Given the description of an element on the screen output the (x, y) to click on. 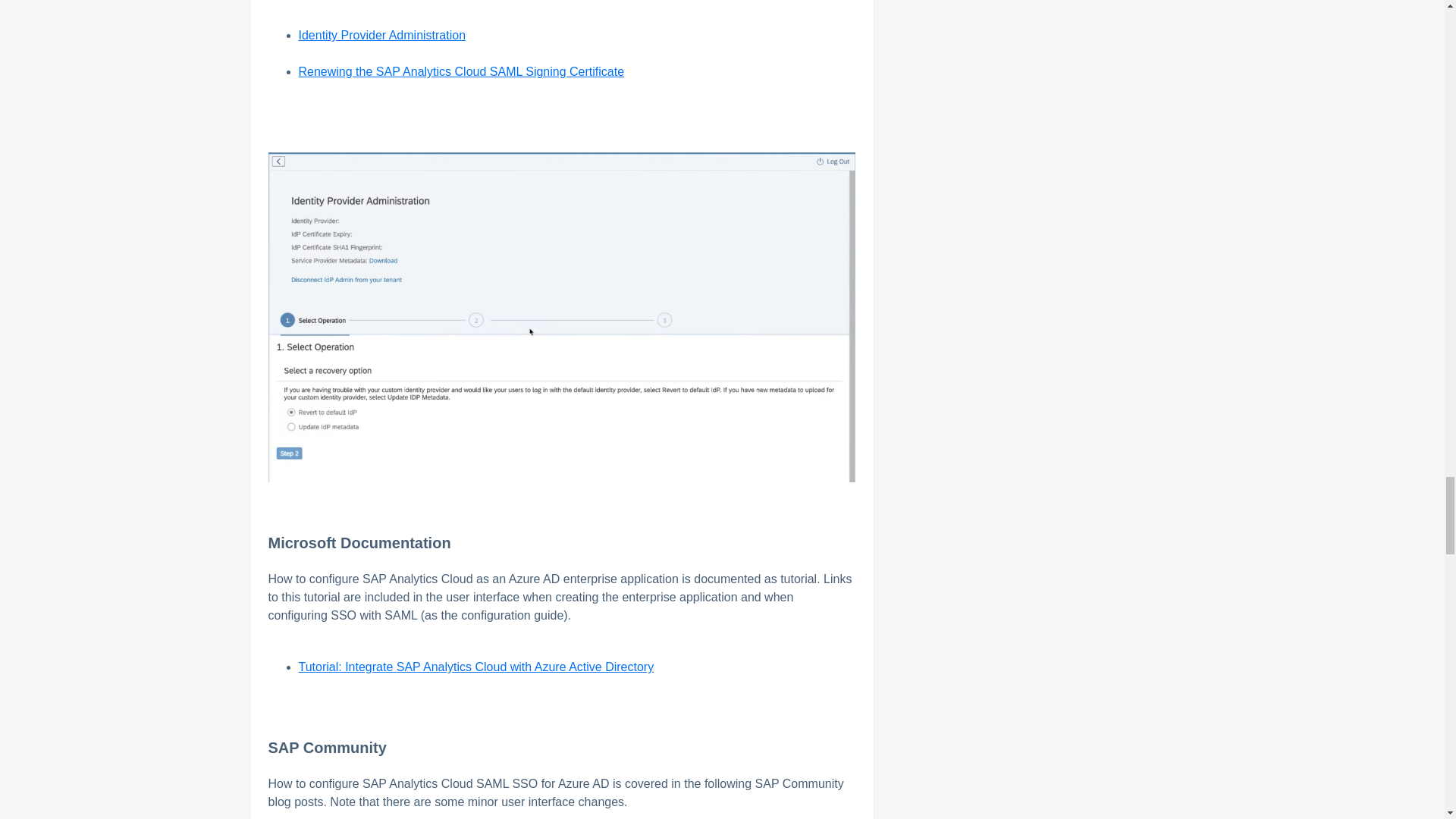
Identity Provider Administration (381, 34)
